Given the description of an element on the screen output the (x, y) to click on. 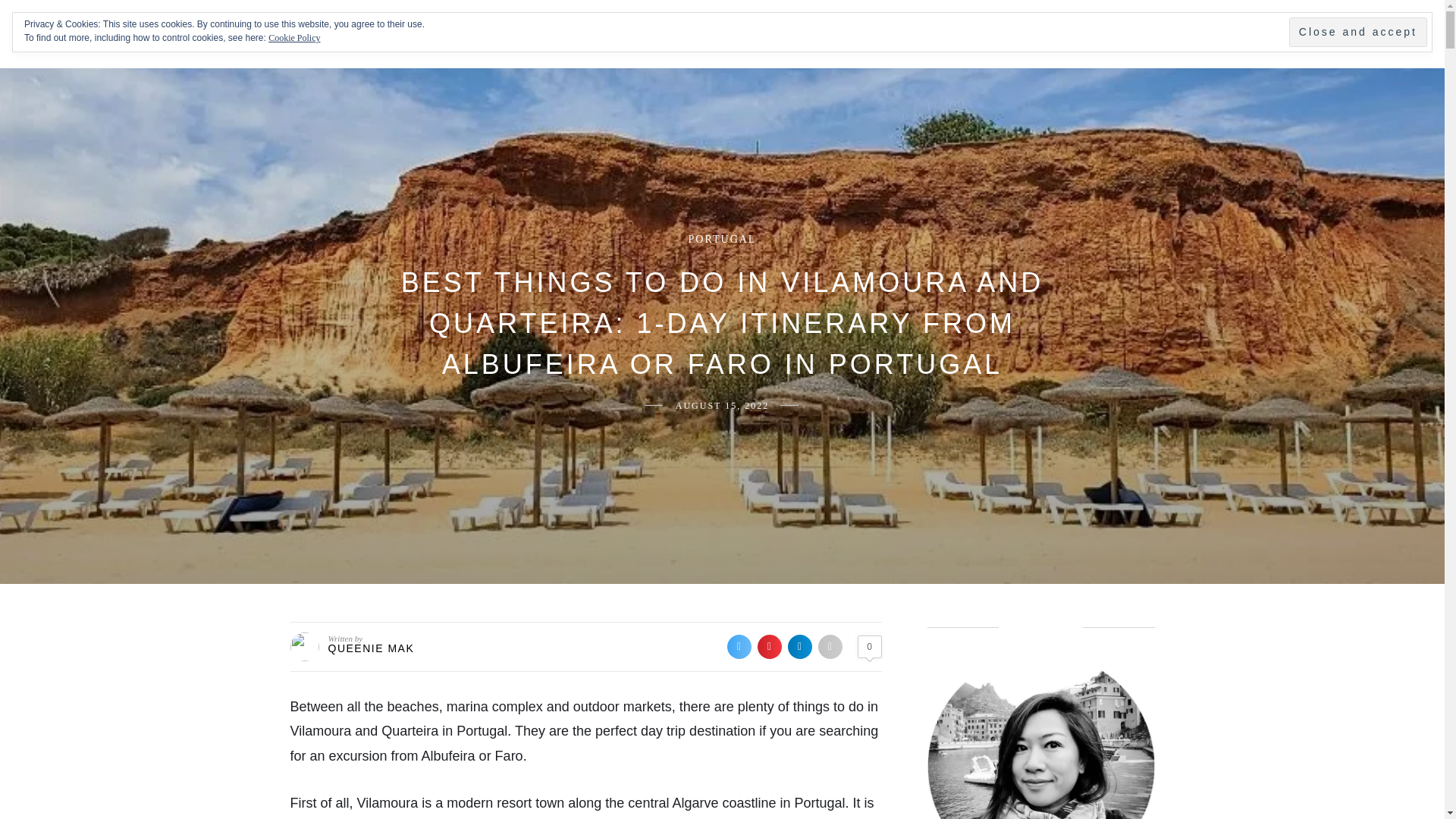
ABOUT ME (532, 34)
ms travel solo (121, 33)
DESTINATIONS (654, 34)
Close and accept (1357, 31)
Posts by queenie mak (370, 648)
